Given the description of an element on the screen output the (x, y) to click on. 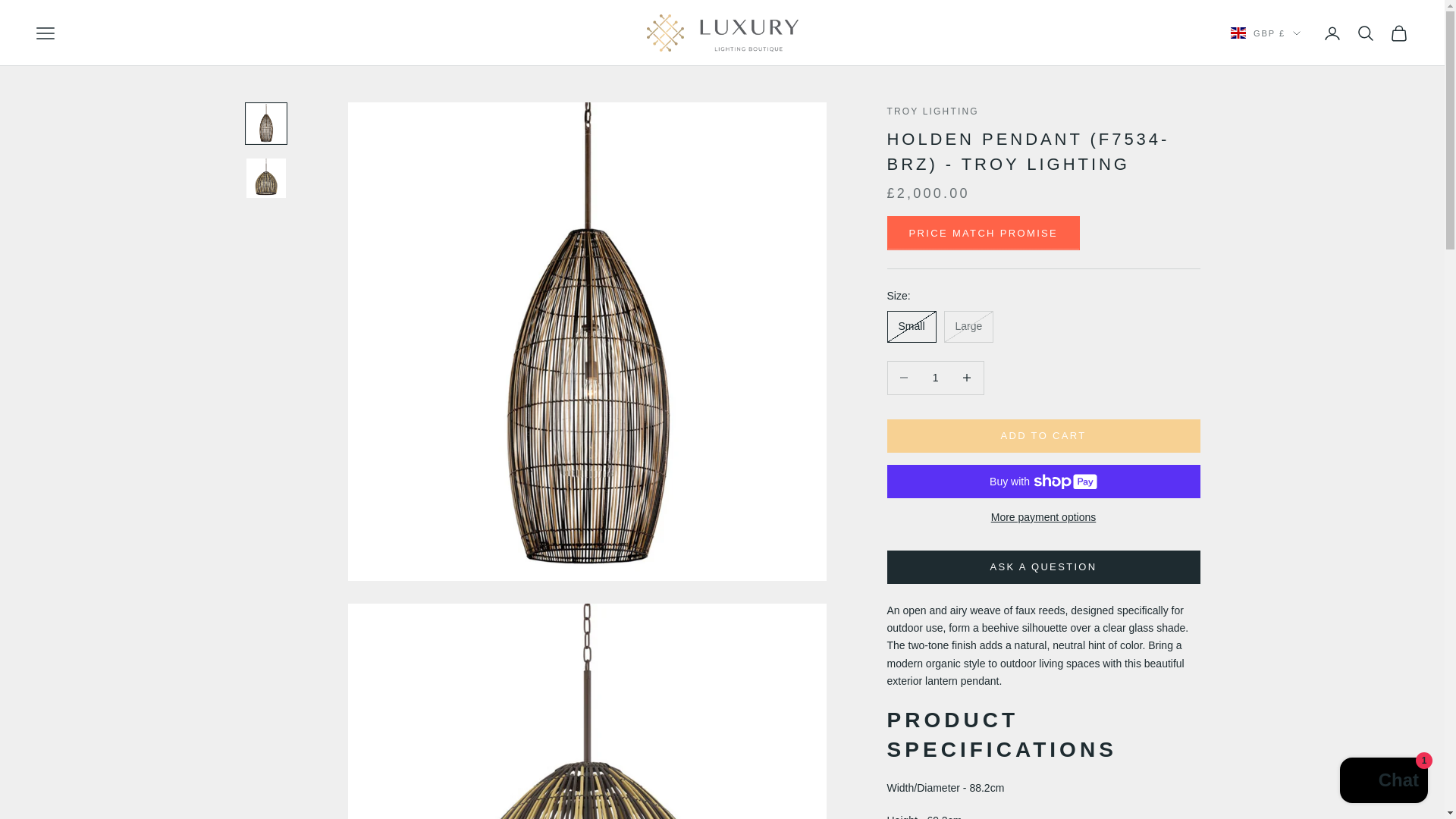
1 (935, 377)
Open navigation menu (45, 33)
Luxury Lighting Boutique (721, 32)
Shopify online store chat (1383, 781)
